Given the description of an element on the screen output the (x, y) to click on. 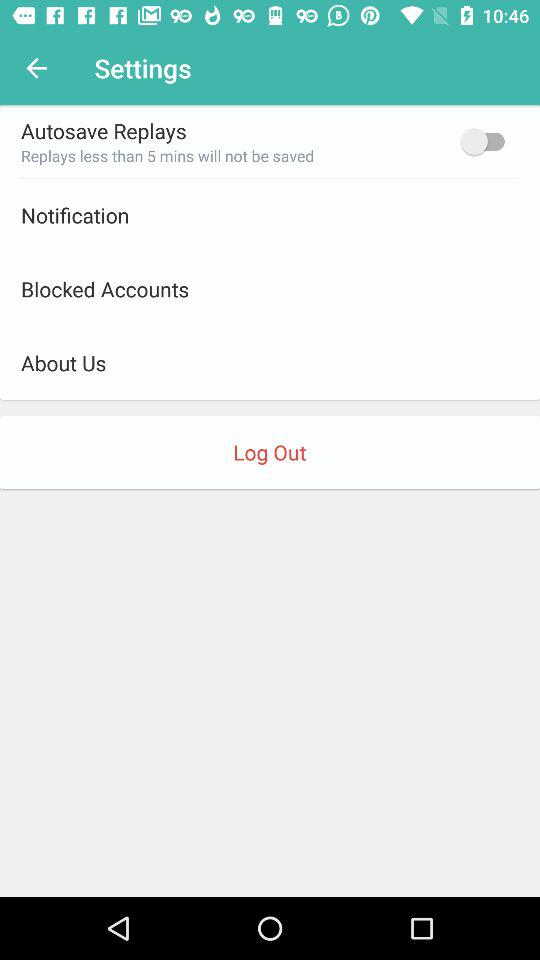
toggle autoplay option (487, 141)
